Given the description of an element on the screen output the (x, y) to click on. 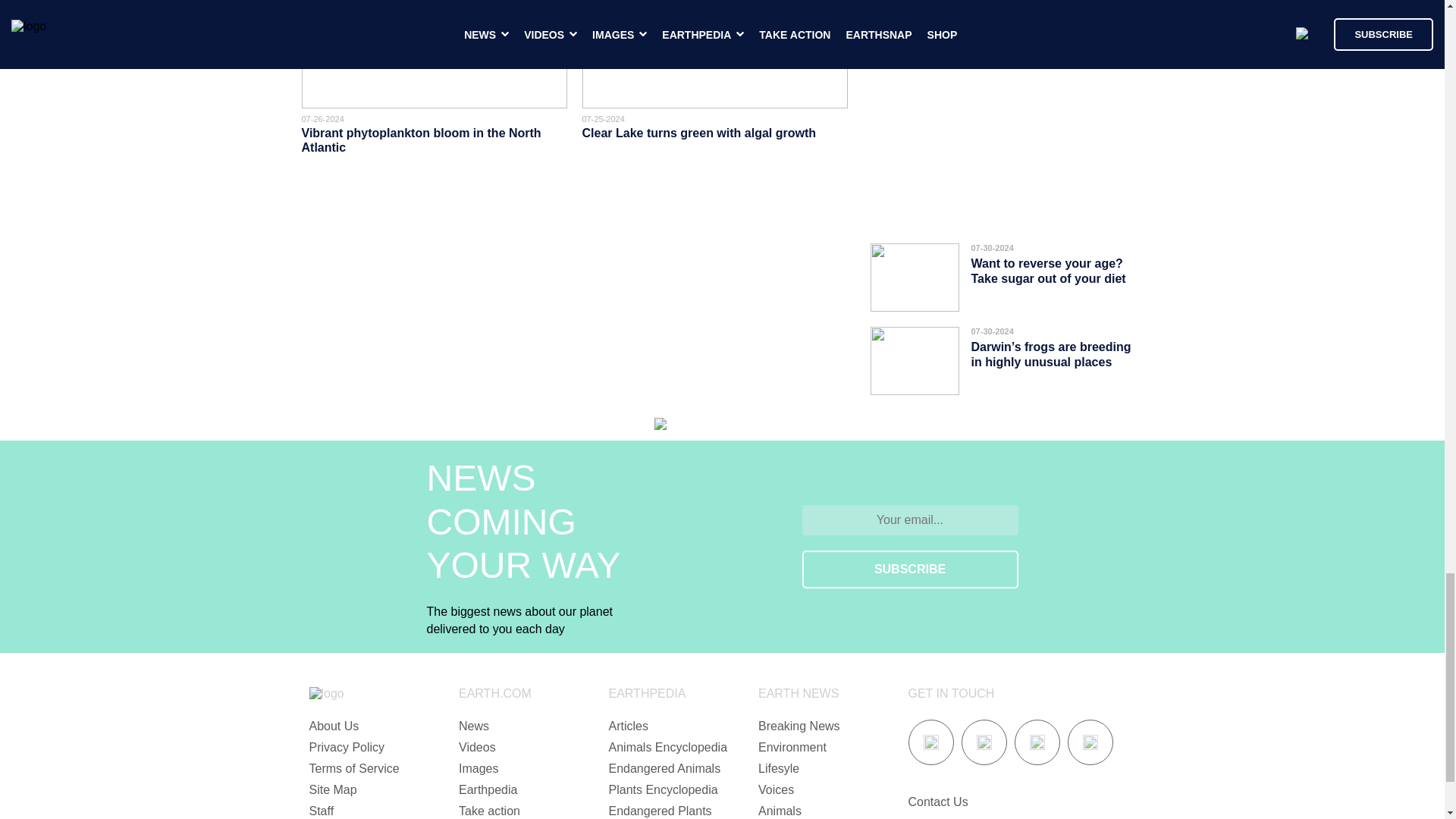
Vibrant phytoplankton bloom in the North Atlantic (421, 139)
Clear Lake turns green with algal growth (699, 132)
